Given the description of an element on the screen output the (x, y) to click on. 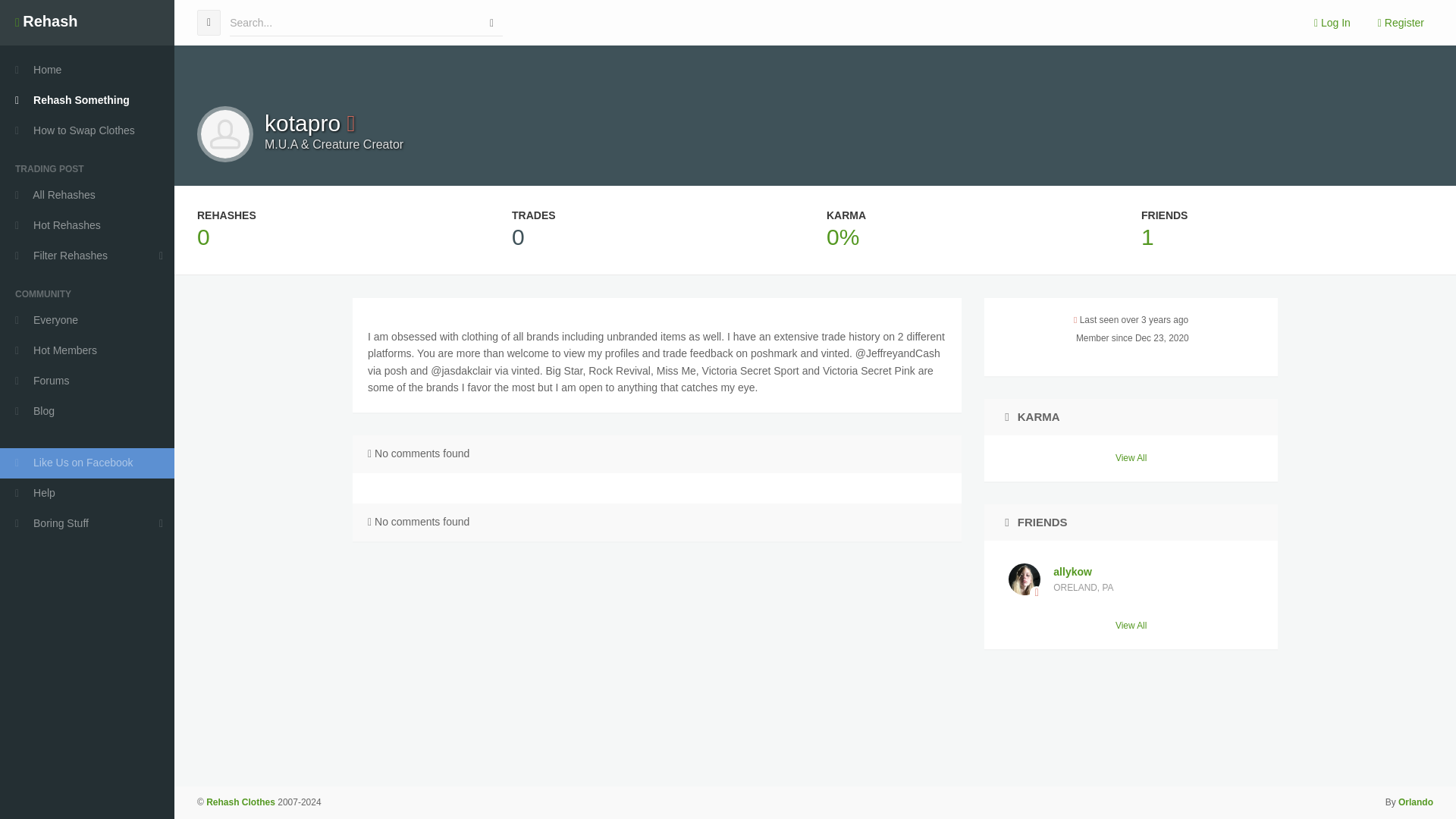
View All (1131, 457)
Hot Members (87, 350)
Log In (1331, 22)
Blog (87, 411)
Rehash Something (87, 100)
translation missing: en.users.stats.friends (1130, 579)
View All (1164, 215)
Like Us on Facebook (1131, 624)
Rehash (87, 462)
